Given the description of an element on the screen output the (x, y) to click on. 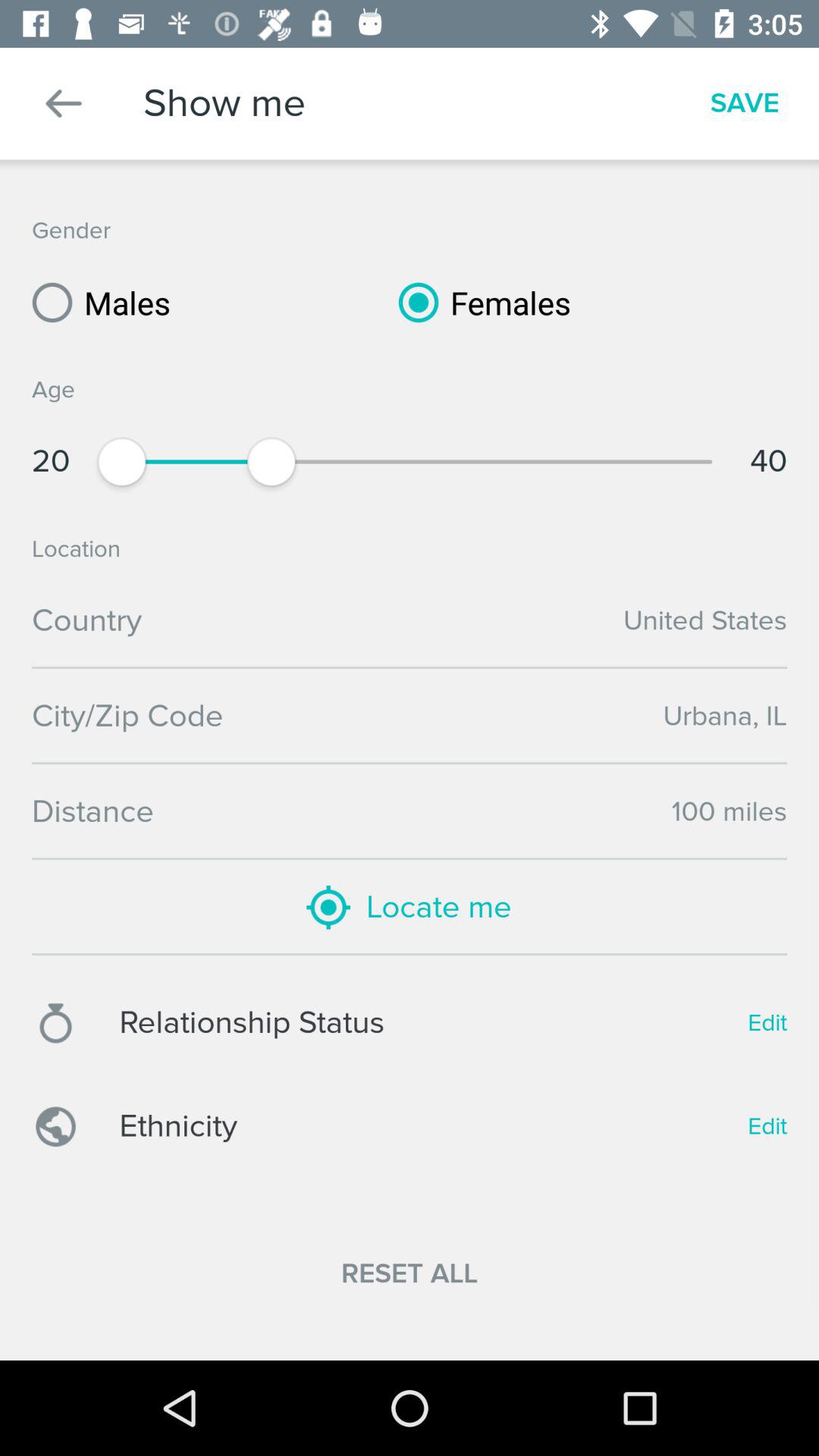
choose the item below ethnicity (409, 1273)
